Given the description of an element on the screen output the (x, y) to click on. 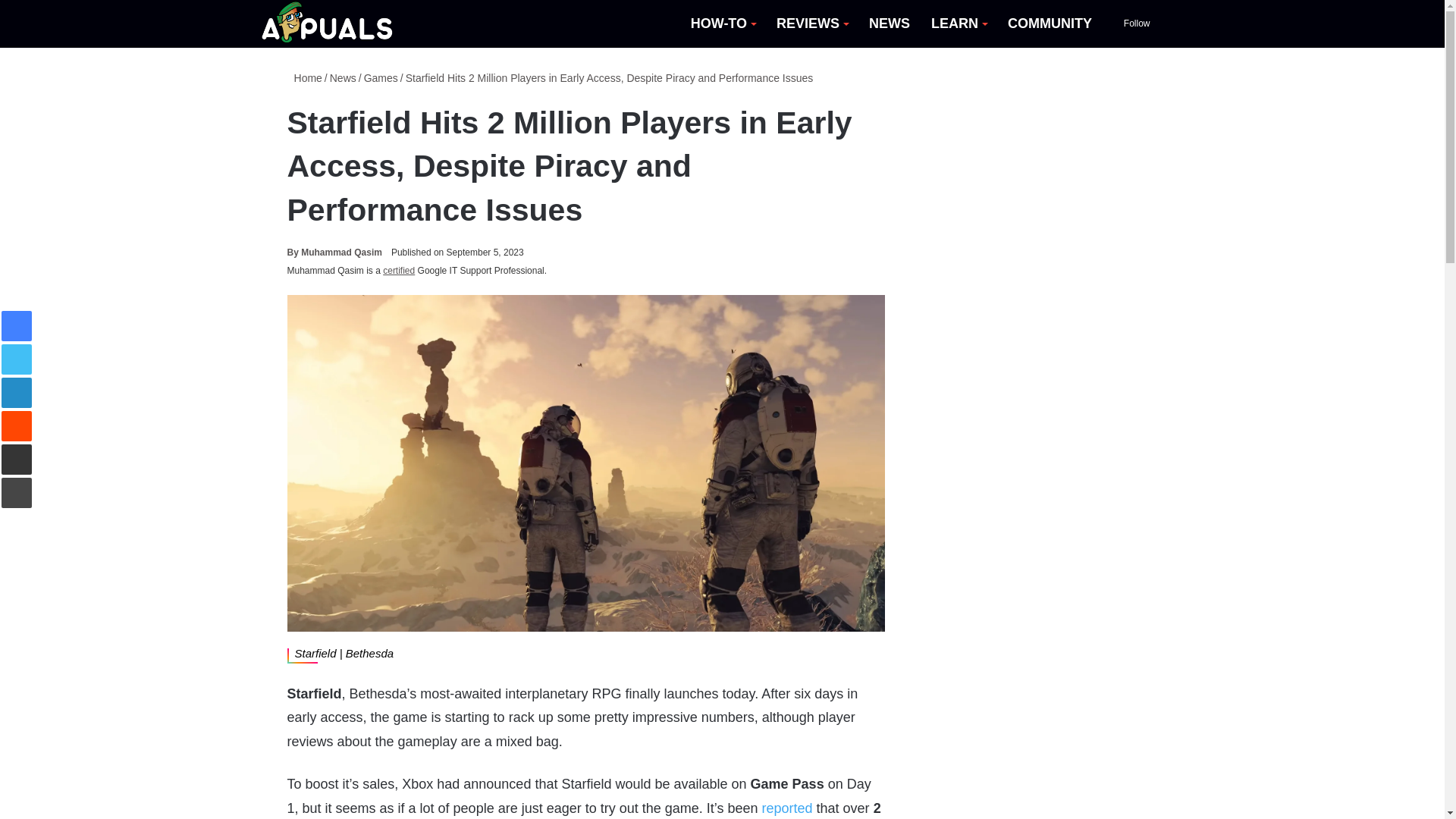
Reddit (16, 426)
HOW-TO (722, 23)
Appuals (327, 23)
Muhammad Qasim (333, 252)
LEARN (958, 23)
Facebook (16, 326)
Twitter (16, 358)
REVIEWS (812, 23)
Share via Email (16, 459)
COMMUNITY (1049, 23)
